Given the description of an element on the screen output the (x, y) to click on. 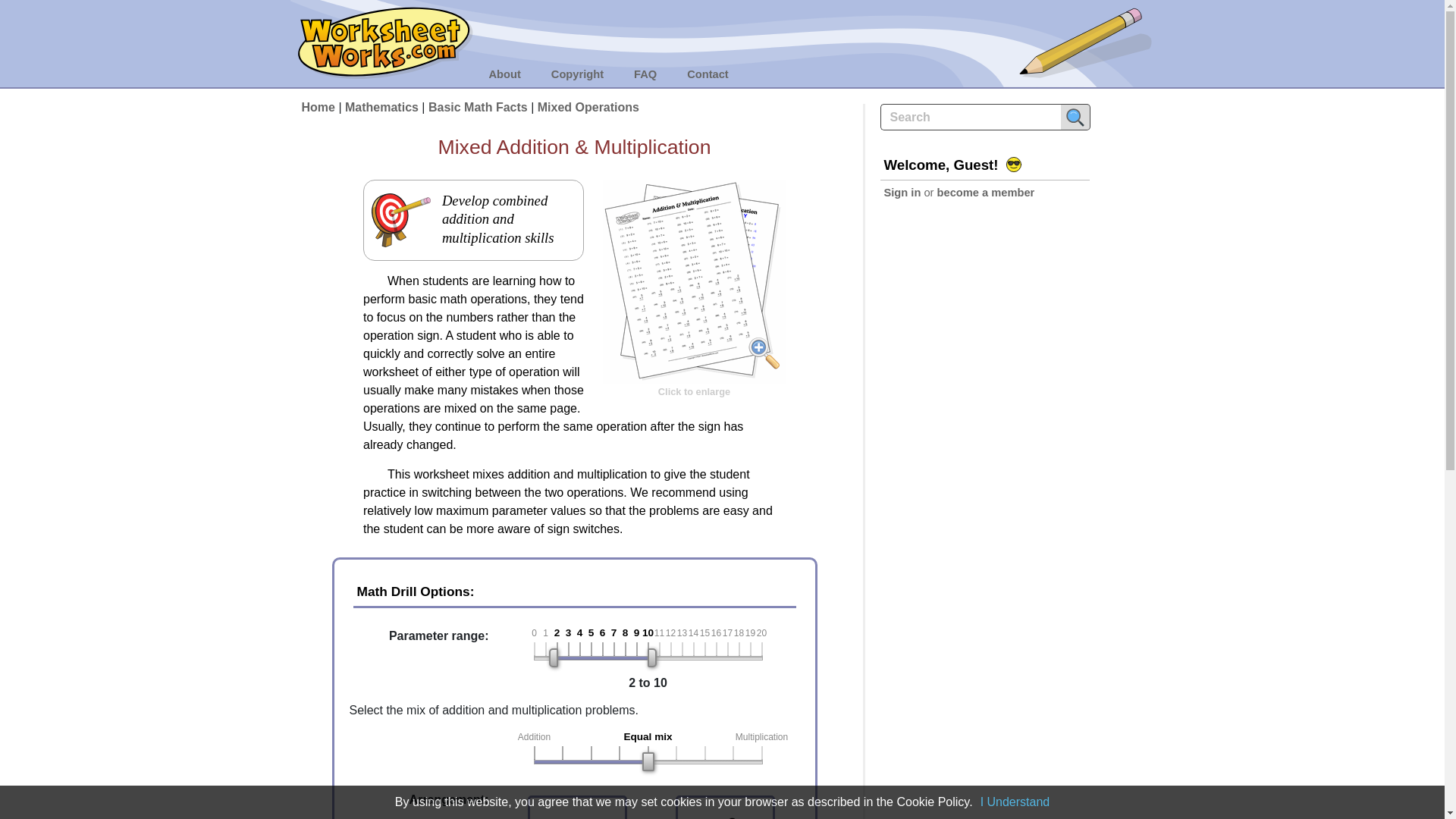
FAQ (644, 73)
Mixed Operations (588, 106)
become a member (986, 192)
Click to enlarge (694, 336)
I Understand (1014, 801)
Mathematics (382, 106)
Sign in (902, 192)
Copyright (577, 73)
About (503, 73)
Contact (708, 73)
Home (317, 106)
Basic Math Facts (477, 106)
